Given the description of an element on the screen output the (x, y) to click on. 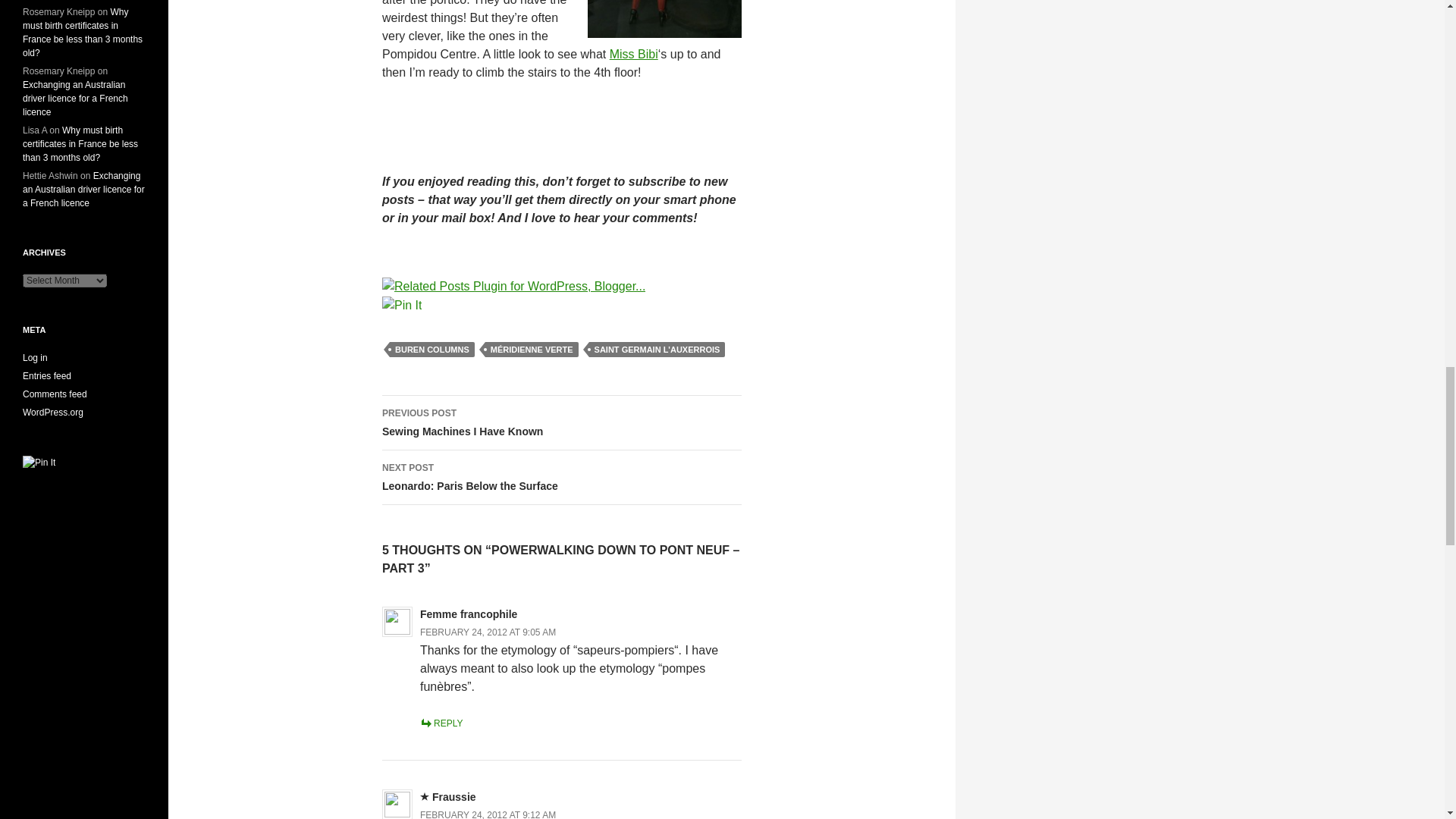
Pin It (401, 304)
BUREN COLUMNS (432, 348)
Miss Bibi (634, 53)
Miss Bibi and the Palais Royal in Paris (634, 53)
